Given the description of an element on the screen output the (x, y) to click on. 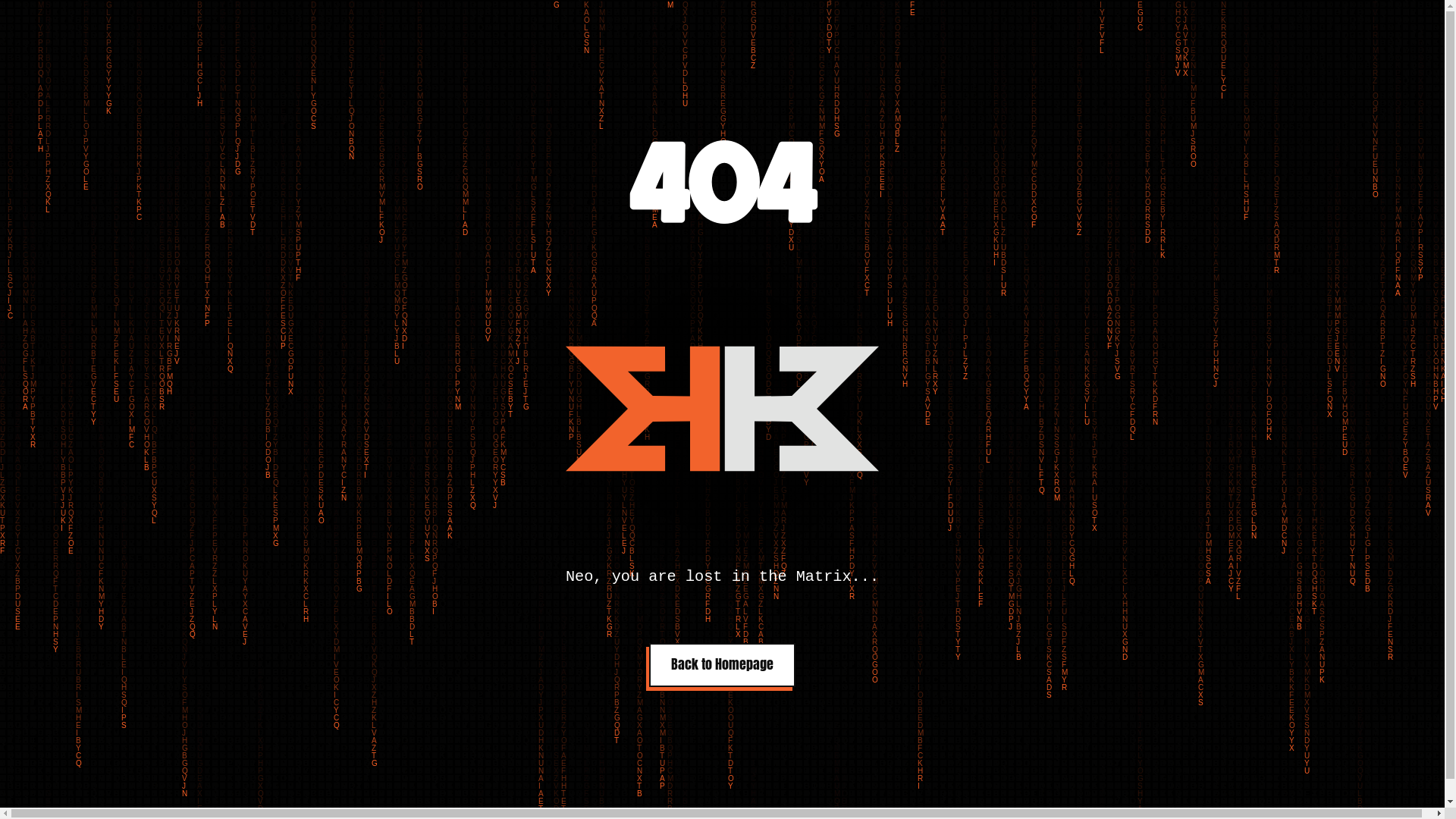
Back to Homepage Element type: text (722, 665)
